Given the description of an element on the screen output the (x, y) to click on. 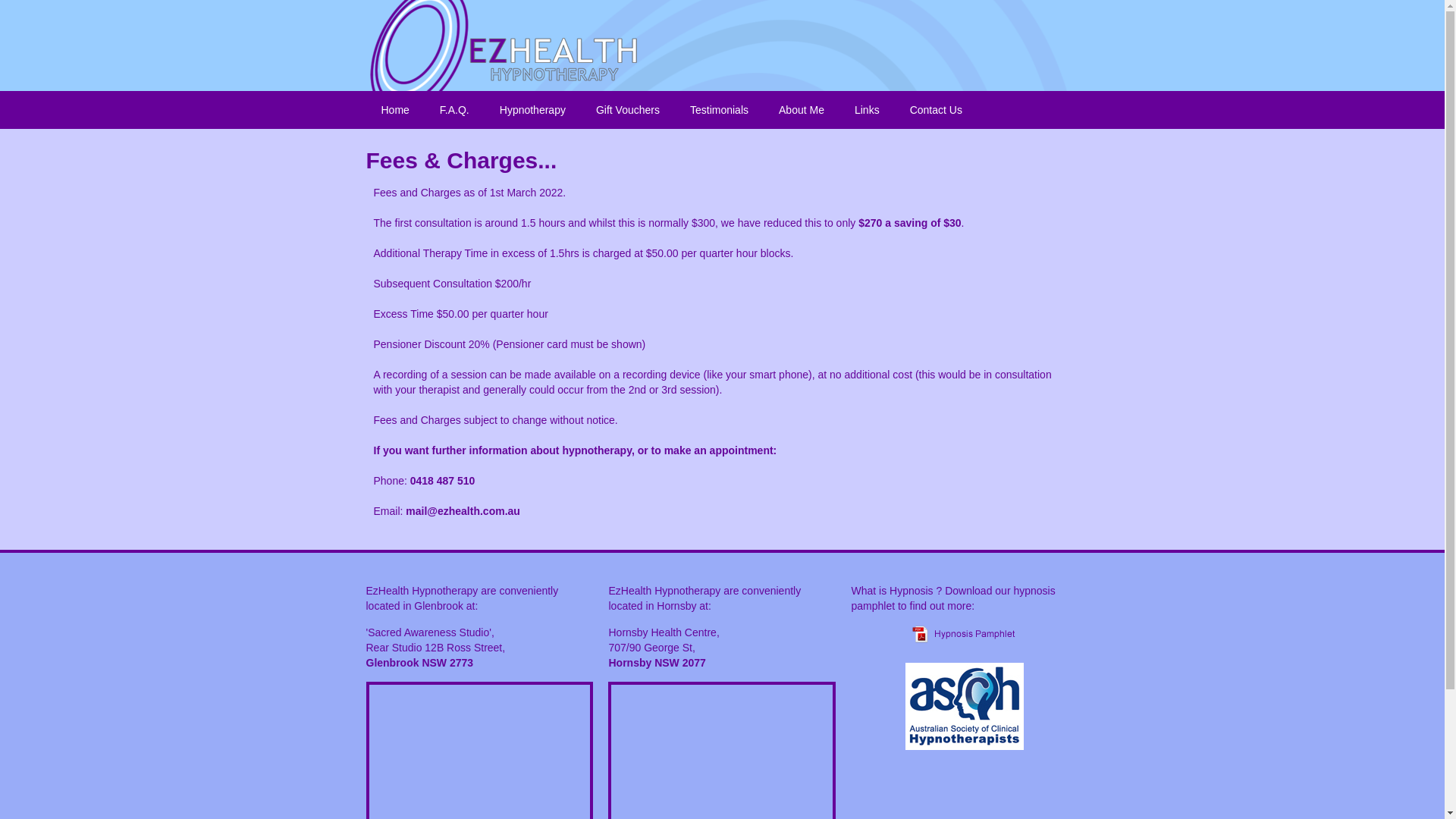
F.A.Q. Element type: text (454, 109)
About Me Element type: text (801, 109)
Testimonials Element type: text (718, 109)
Gift Vouchers Element type: text (627, 109)
Links Element type: text (866, 109)
Hypnotherapy Element type: text (532, 109)
Home Element type: text (394, 109)
Contact Us Element type: text (935, 109)
mail@ezhealth.com.au Element type: text (462, 511)
